Given the description of an element on the screen output the (x, y) to click on. 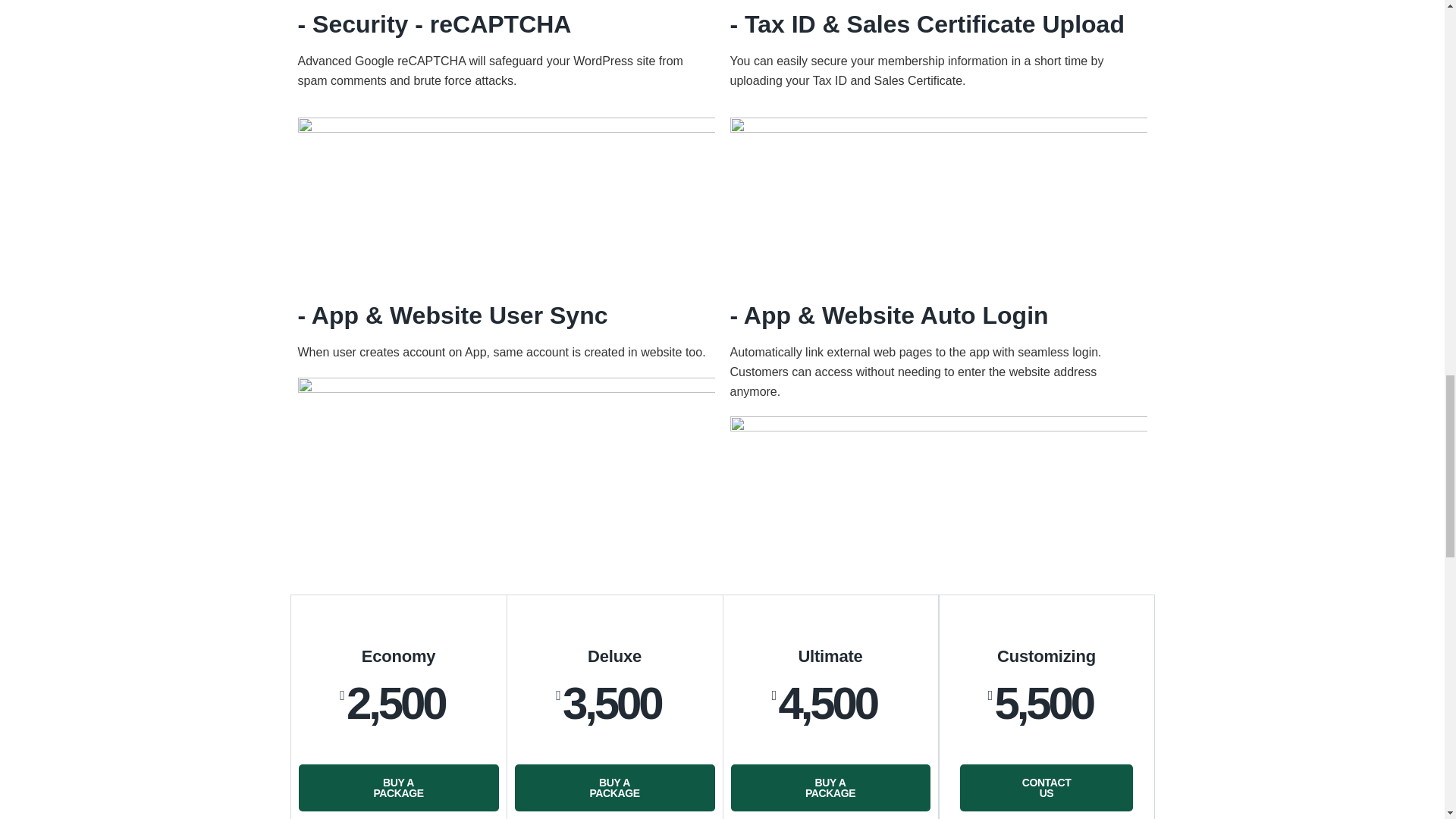
BUY A PACKAGE (1046, 787)
BUY A PACKAGE (830, 787)
BUY A PACKAGE (613, 787)
